Given the description of an element on the screen output the (x, y) to click on. 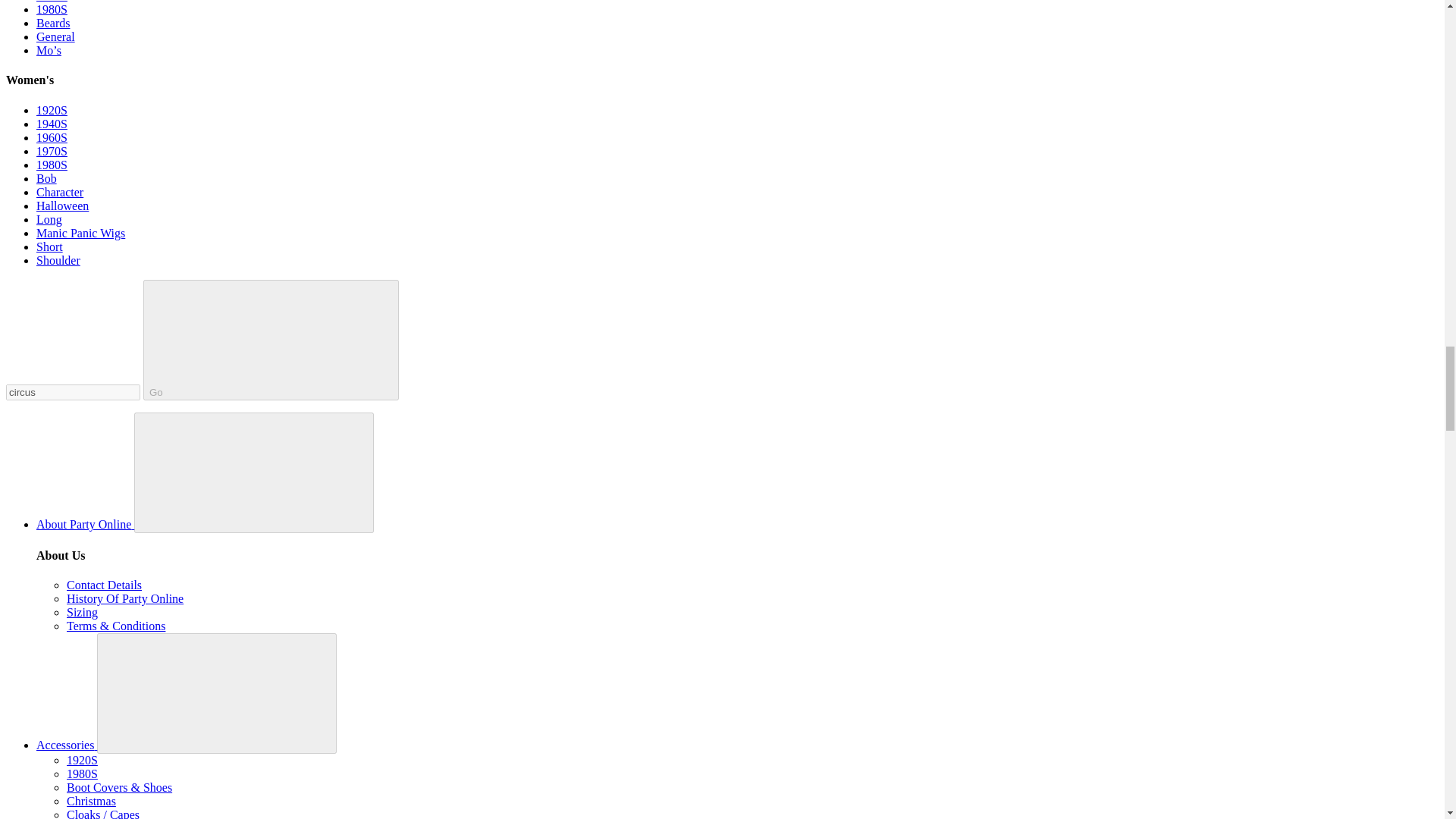
circus (72, 392)
circus (72, 392)
